Given the description of an element on the screen output the (x, y) to click on. 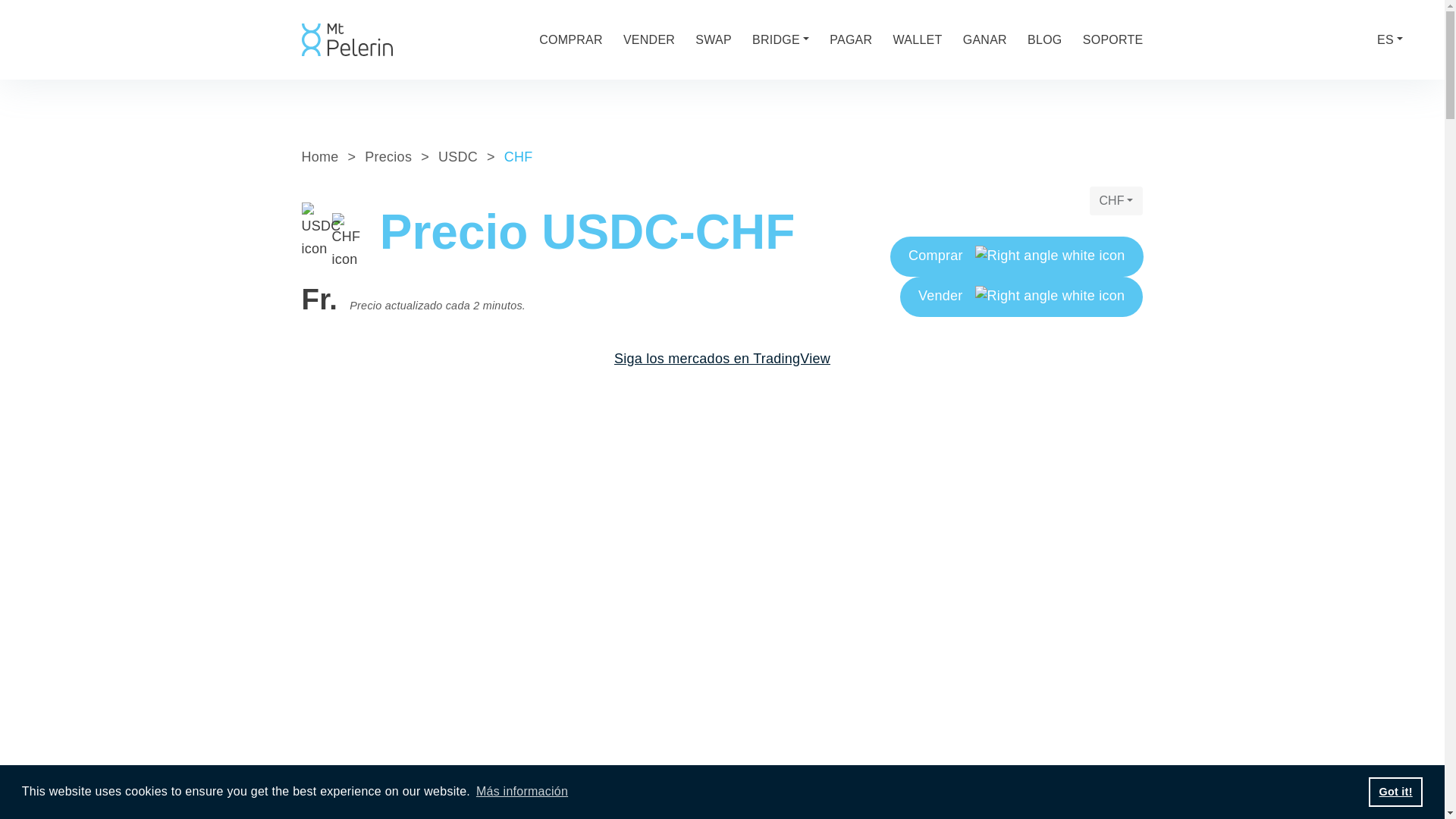
USDC (457, 156)
BRIDGE (780, 39)
Vender (1020, 296)
SWAP (713, 38)
ES (1390, 39)
BLOG (1044, 39)
Siga los mercados en TradingView (721, 358)
PAGAR (850, 39)
CHF (1115, 200)
Precios (388, 156)
SOPORTE (1112, 39)
COMPRAR (570, 35)
Comprar (1015, 256)
GANAR (984, 39)
Got it! (1395, 791)
